Given the description of an element on the screen output the (x, y) to click on. 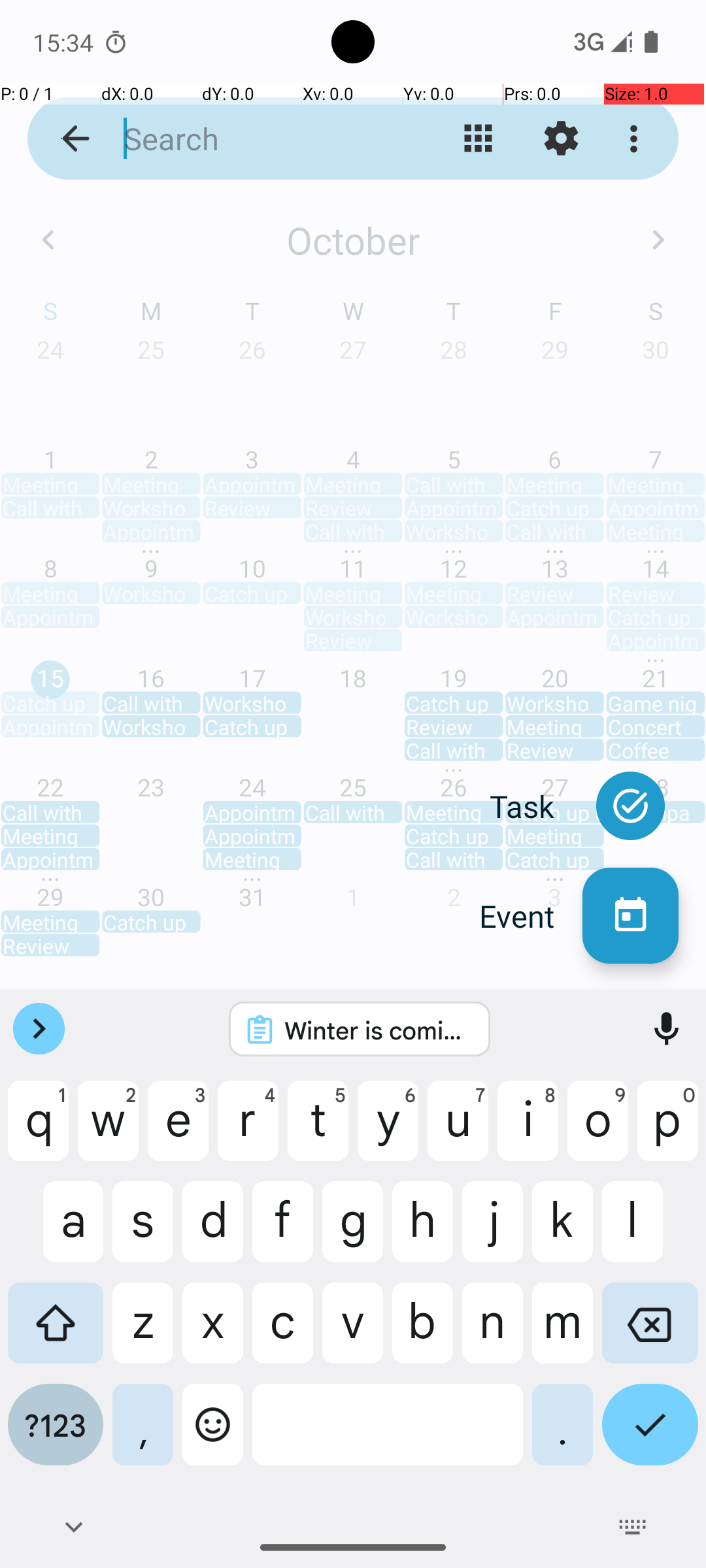
Winter is coming. Element type: android.widget.TextView (376, 1029)
